Given the description of an element on the screen output the (x, y) to click on. 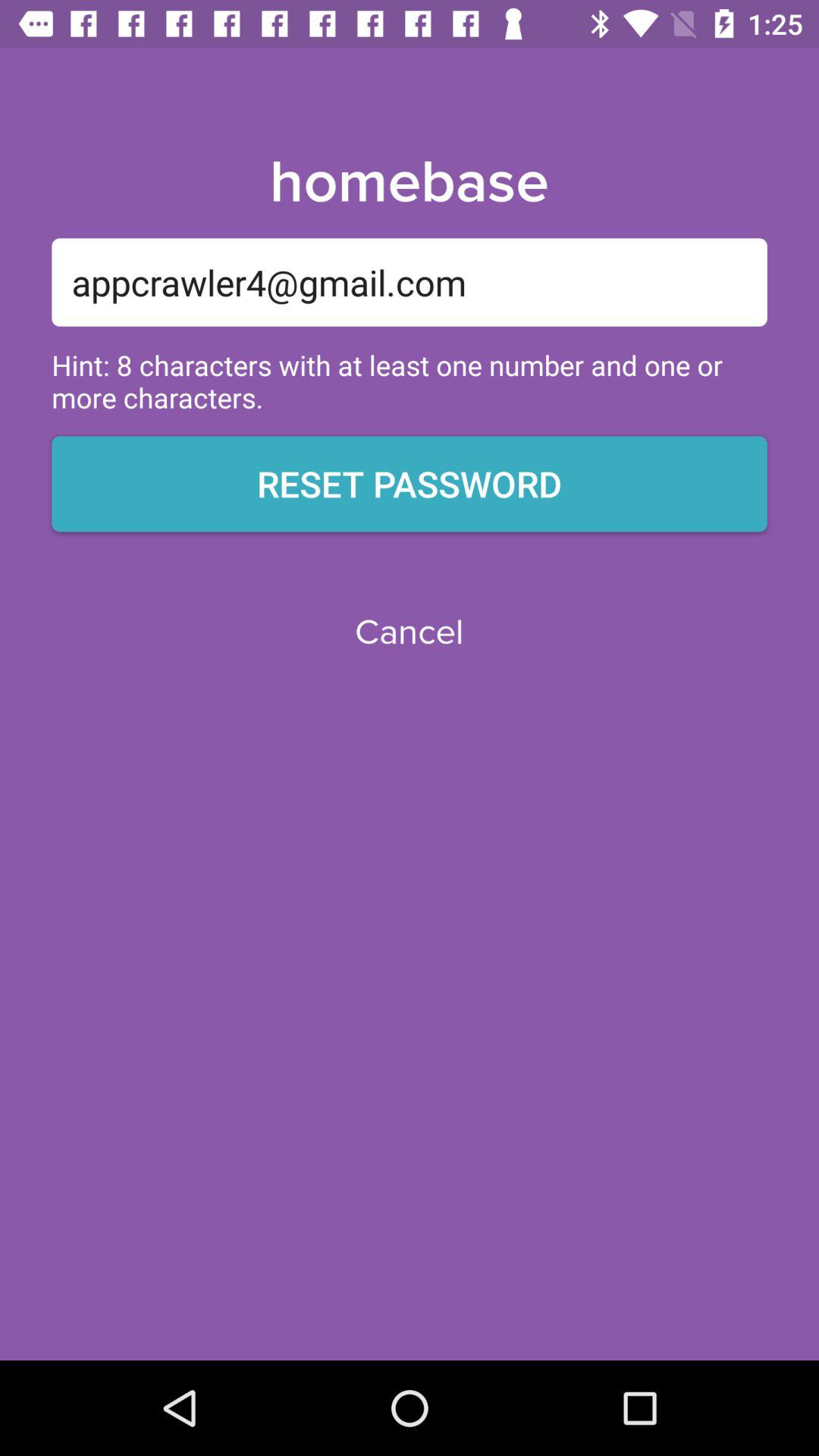
swipe to homebase icon (408, 182)
